Given the description of an element on the screen output the (x, y) to click on. 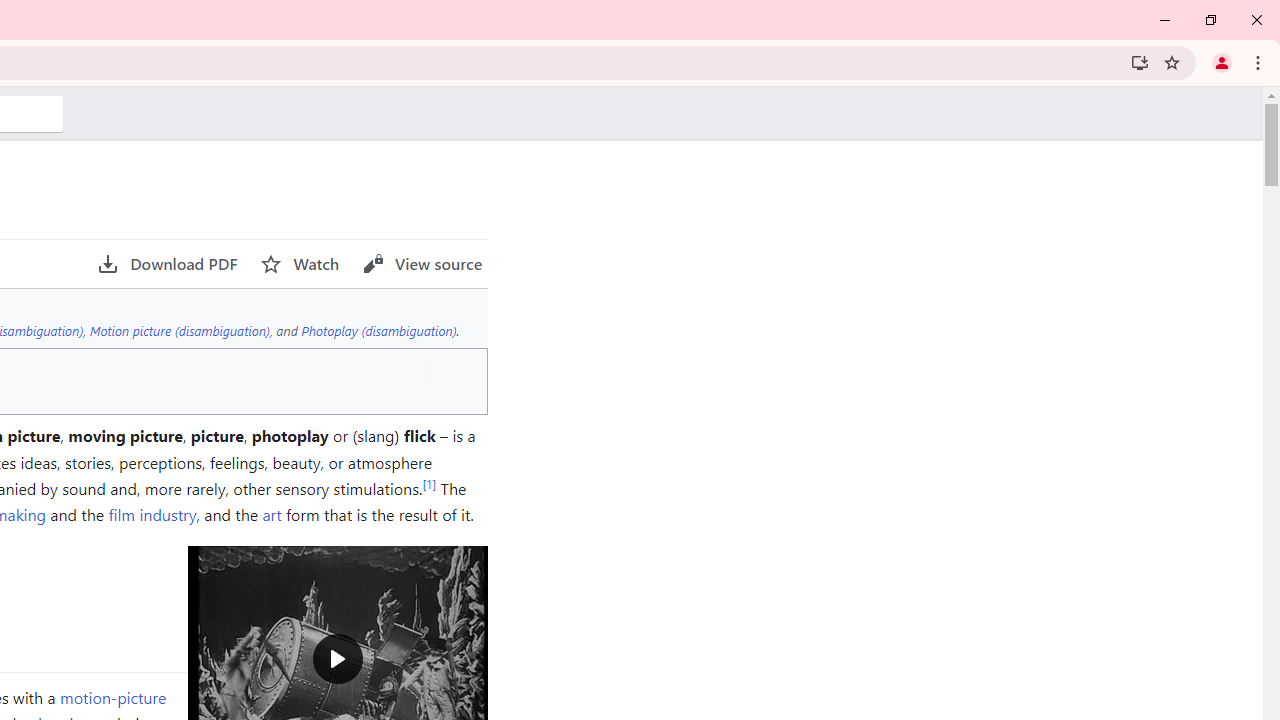
Motion picture (disambiguation) (179, 330)
Photoplay (disambiguation) (378, 330)
Download PDF (167, 264)
[1] (429, 483)
AutomationID: page-actions-watch (300, 263)
AutomationID: page-actions-viewsource (422, 263)
AutomationID: minerva-download (167, 263)
Watch (300, 264)
art (271, 514)
